Given the description of an element on the screen output the (x, y) to click on. 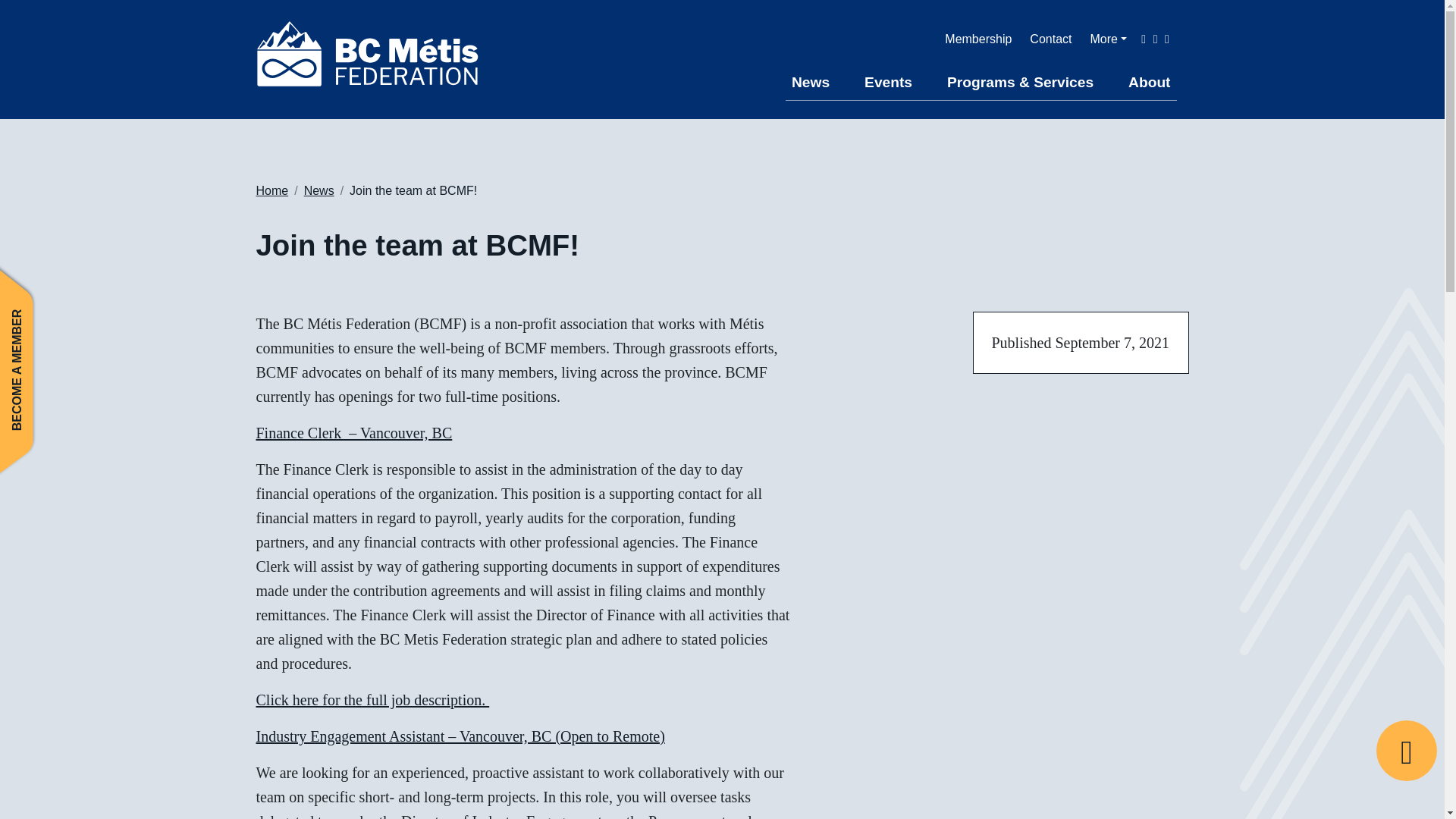
News (810, 82)
Click here for the full job description.  (372, 699)
More (1107, 39)
More (1107, 39)
Events (888, 82)
About (1149, 82)
BECOME A MEMBER (109, 279)
News (810, 82)
About (1149, 82)
Home (272, 190)
Events (888, 82)
Contact (1050, 39)
Contact (1050, 39)
Membership (977, 39)
Membership (977, 39)
